Given the description of an element on the screen output the (x, y) to click on. 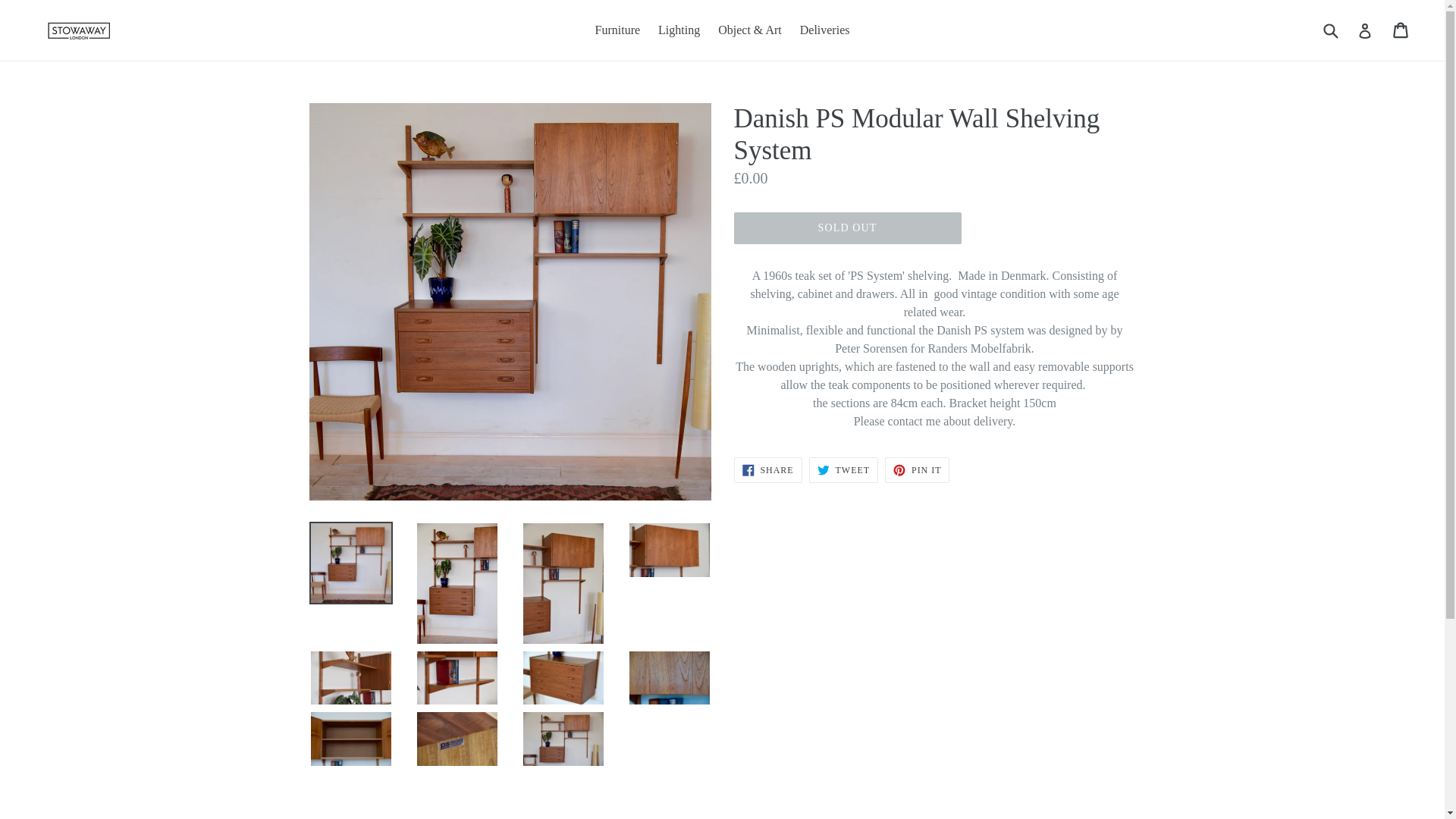
Share on Facebook (917, 470)
Lighting (767, 470)
Tweet on Twitter (678, 29)
Pin on Pinterest (843, 470)
Furniture (917, 470)
Deliveries (617, 29)
SOLD OUT (767, 470)
